Given the description of an element on the screen output the (x, y) to click on. 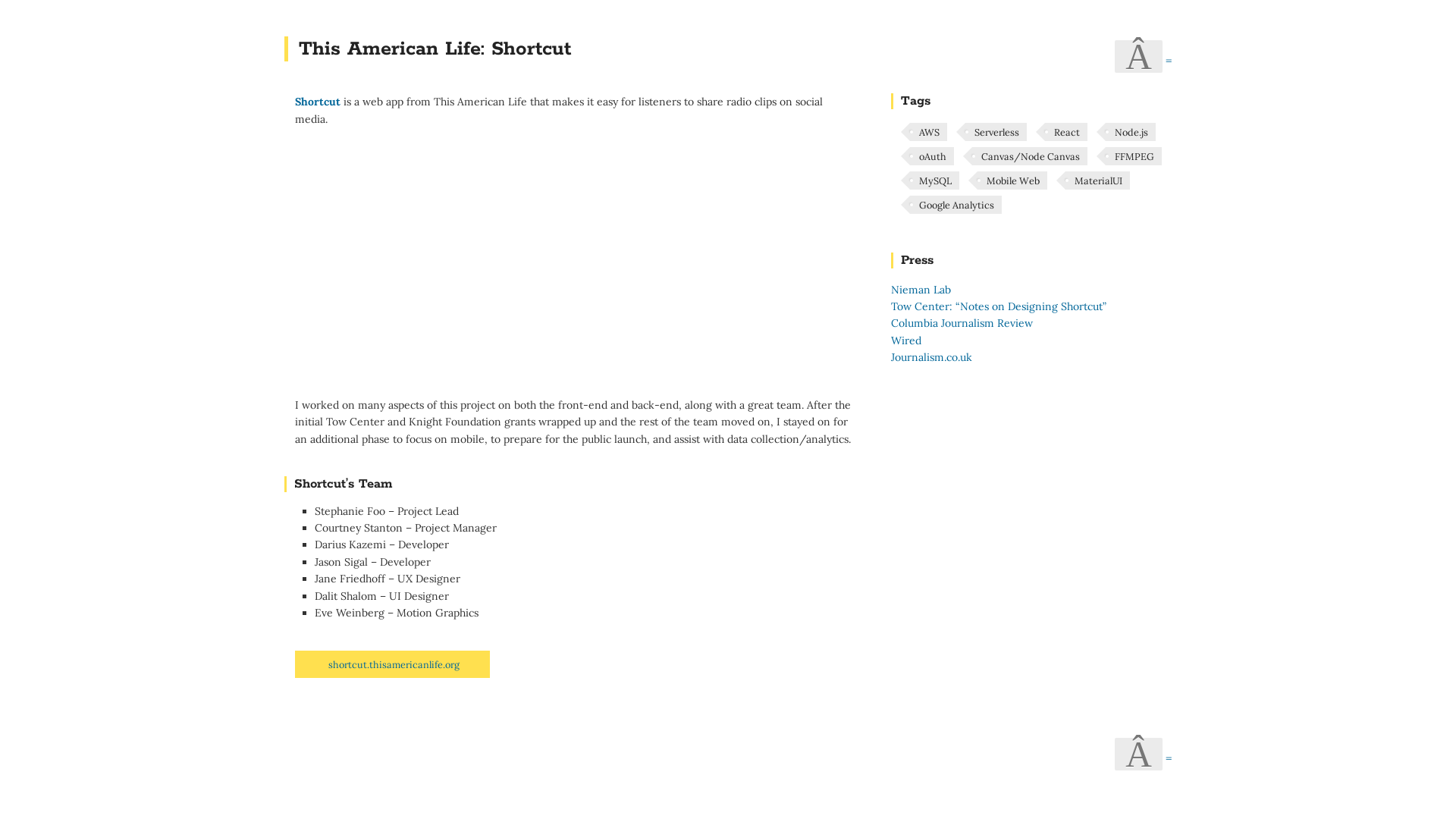
Shortcut Element type: text (317, 101)
Journalism.co.uk Element type: text (931, 357)
Nieman Lab Element type: text (920, 289)
= Element type: text (1168, 757)
React Element type: text (1065, 131)
Serverless Element type: text (995, 131)
Wired Element type: text (906, 340)
Columbia Journalism Review Element type: text (961, 322)
oAuth Element type: text (931, 156)
Mobile Web Element type: text (1012, 180)
Node.js Element type: text (1130, 131)
MaterialUI Element type: text (1097, 180)
MySQL Element type: text (934, 180)
= Element type: text (1168, 60)
shortcut.thisamericanlife.org Element type: text (391, 663)
Canvas/Node Canvas Element type: text (1029, 156)
AWS Element type: text (928, 131)
Google Analytics Element type: text (955, 204)
shortcut.thisamericanlife.org Element type: text (393, 664)
FFMPEG Element type: text (1133, 156)
